Given the description of an element on the screen output the (x, y) to click on. 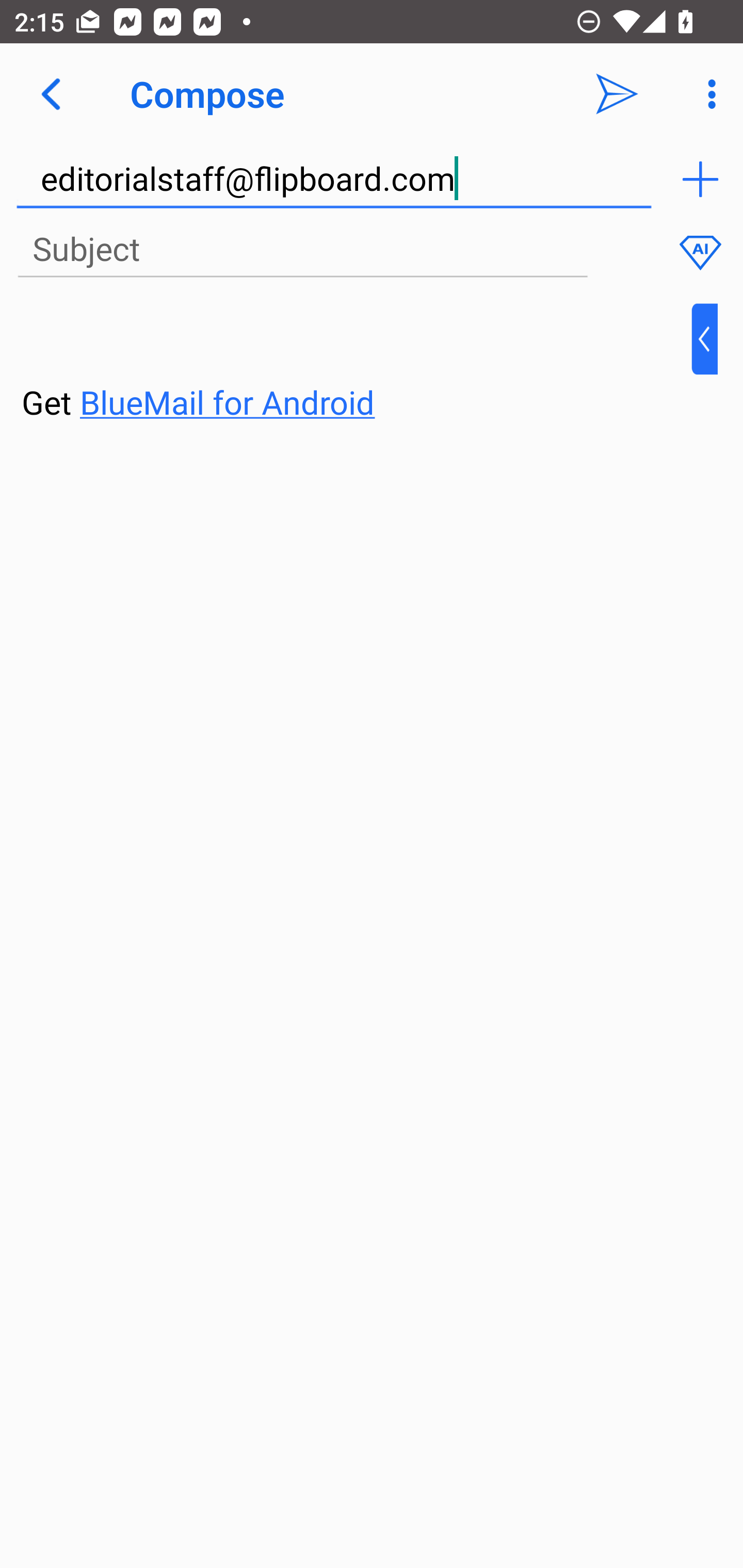
Navigate up (50, 93)
Send (616, 93)
More Options (706, 93)
 editorialstaff@flipboard.com (334, 179)
Add recipient (To) (699, 179)
Subject (302, 249)


⁣Get BlueMail for Android ​ (355, 363)
